Given the description of an element on the screen output the (x, y) to click on. 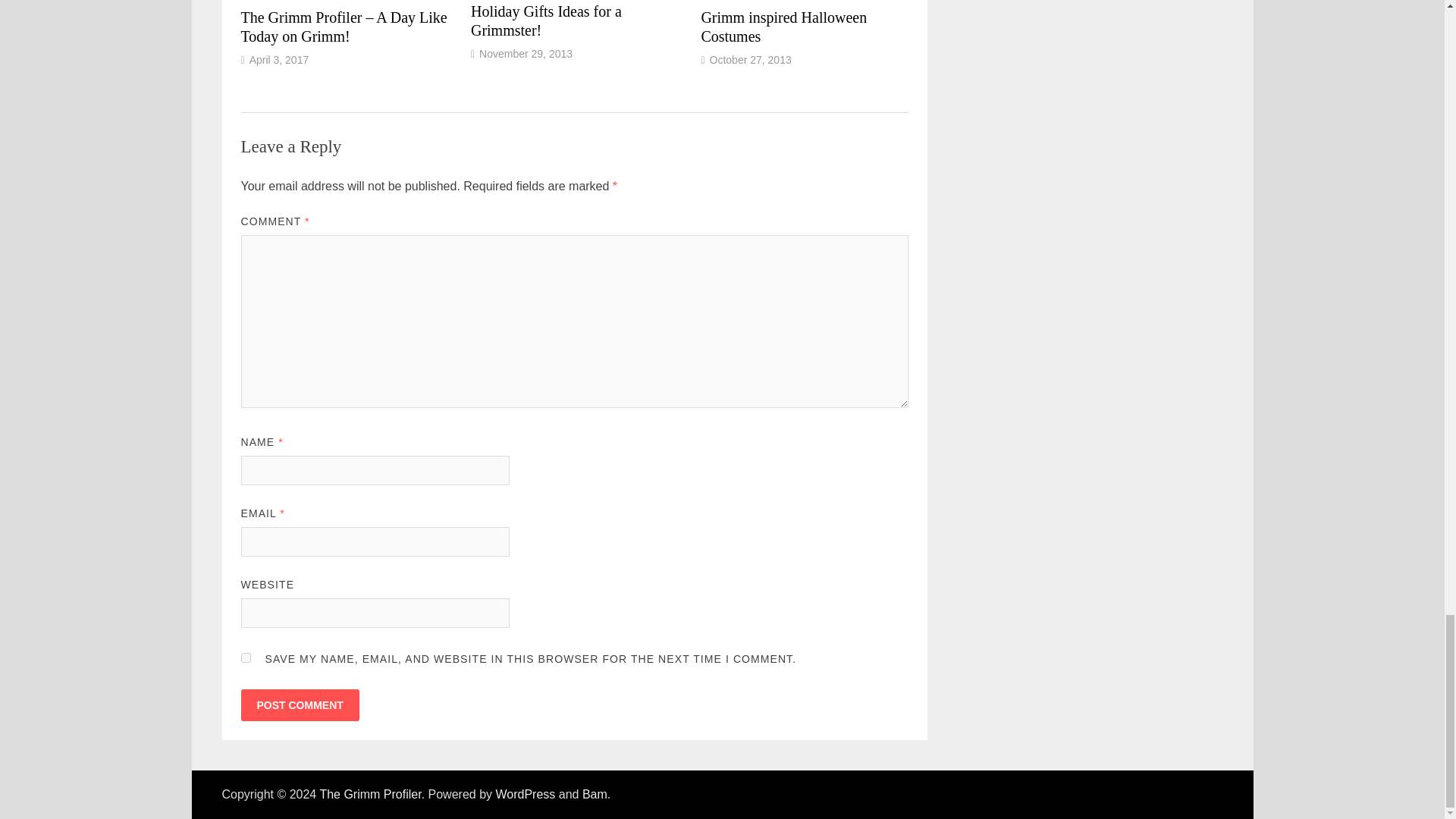
Grimm inspired Halloween Costumes (783, 27)
Post Comment (300, 705)
The Grimm Profiler (369, 793)
Holiday Gifts Ideas for a Grimmster! (545, 20)
yes (245, 657)
